Given the description of an element on the screen output the (x, y) to click on. 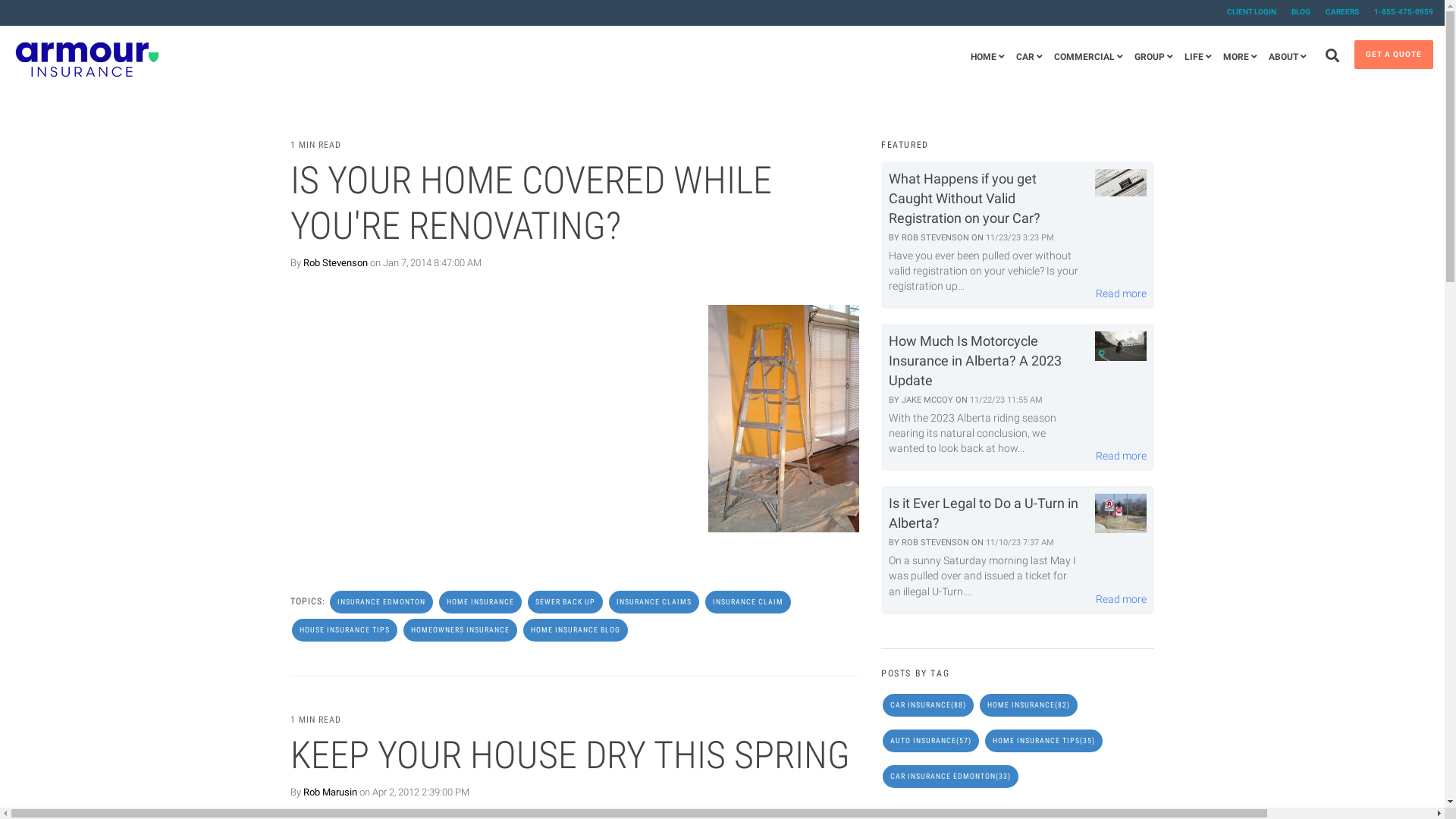
How Much Is Motorcycle Insurance in Alberta? A 2023 Update Element type: text (974, 360)
LIFE Element type: text (1197, 57)
COMMERCIAL Element type: text (1088, 57)
HOME INSURANCE BLOG Element type: text (575, 629)
HOMEOWNERS INSURANCE Element type: text (460, 629)
BLOG Element type: text (1293, 11)
GROUP Element type: text (1153, 57)
1-855-475-0959 Element type: text (1395, 11)
CAR INSURANCE
(88) Element type: text (927, 704)
GET A QUOTE Element type: text (1393, 54)
Is it Ever Legal to Do a U-Turn in Alberta? Element type: text (983, 512)
Read more Element type: text (1120, 455)
Read more Element type: text (1120, 293)
AUTO INSURANCE
(57) Element type: text (930, 740)
HOME Element type: text (987, 57)
INSURANCE EDMONTON Element type: text (380, 601)
HOME INSURANCE TIPS
(35) Element type: text (1043, 740)
KEEP YOUR HOUSE DRY THIS SPRING Element type: text (569, 755)
Rob Marusin Element type: text (330, 791)
IS YOUR HOME COVERED WHILE YOU'RE RENOVATING? Element type: text (530, 202)
HOUSE INSURANCE TIPS Element type: text (343, 629)
HOME INSURANCE Element type: text (479, 601)
CAR Element type: text (1029, 57)
MORE Element type: text (1240, 57)
CAREERS Element type: text (1334, 11)
CAR INSURANCE EDMONTON
(33) Element type: text (950, 776)
Rob Stevenson Element type: text (335, 262)
HOME INSURANCE
(82) Element type: text (1028, 704)
SEWER BACK UP Element type: text (564, 601)
ABOUT Element type: text (1287, 57)
INSURANCE CLAIMS Element type: text (653, 601)
Read more Element type: text (1120, 598)
INSURANCE CLAIM Element type: text (747, 601)
CLIENT LOGIN Element type: text (1243, 11)
